Given the description of an element on the screen output the (x, y) to click on. 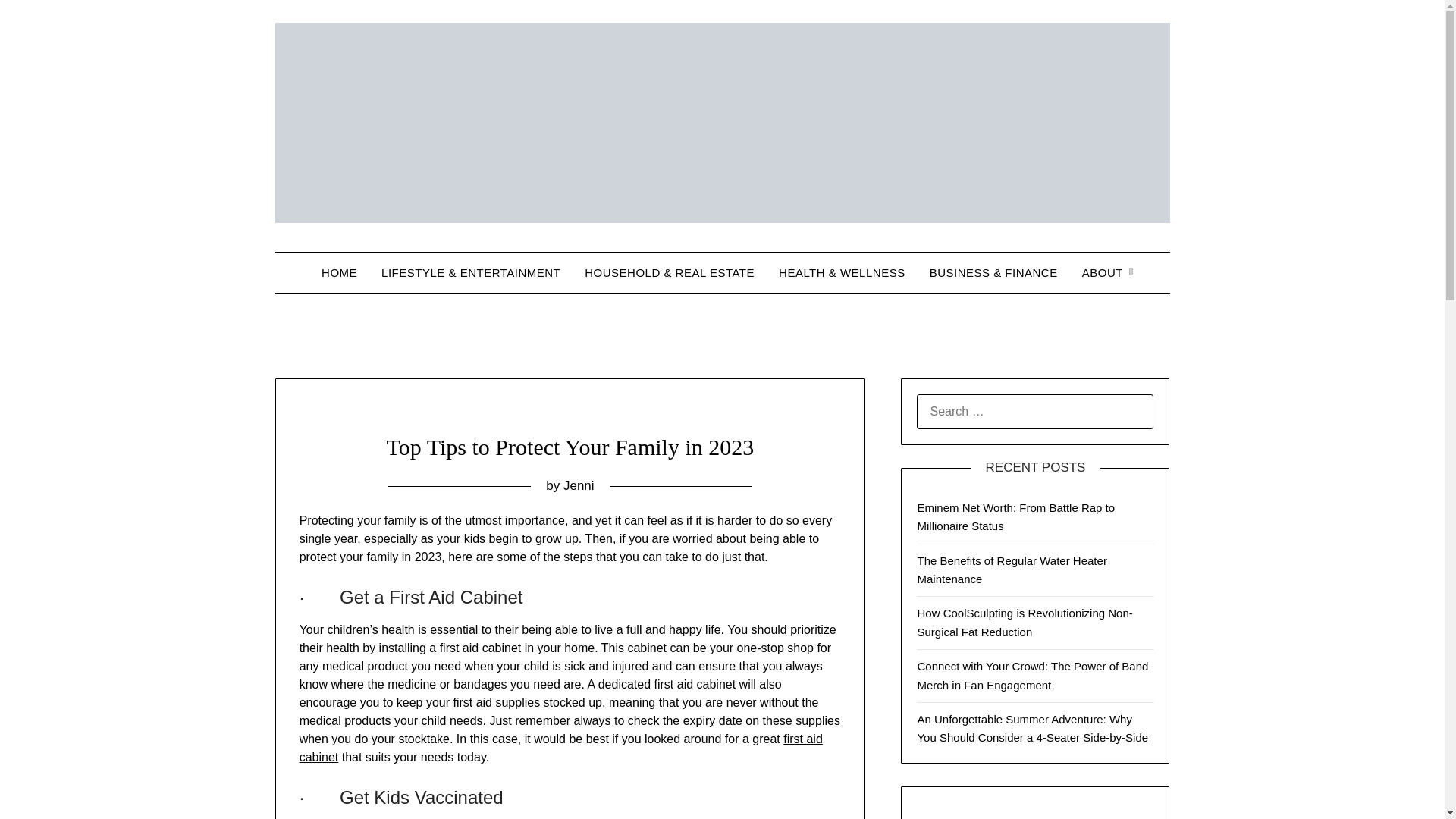
Jenni (578, 485)
Search (38, 22)
first aid cabinet (560, 747)
Eminem Net Worth: From Battle Rap to Millionaire Status (1016, 516)
The Benefits of Regular Water Heater Maintenance (1011, 569)
HOME (338, 272)
ABOUT (1102, 272)
